Given the description of an element on the screen output the (x, y) to click on. 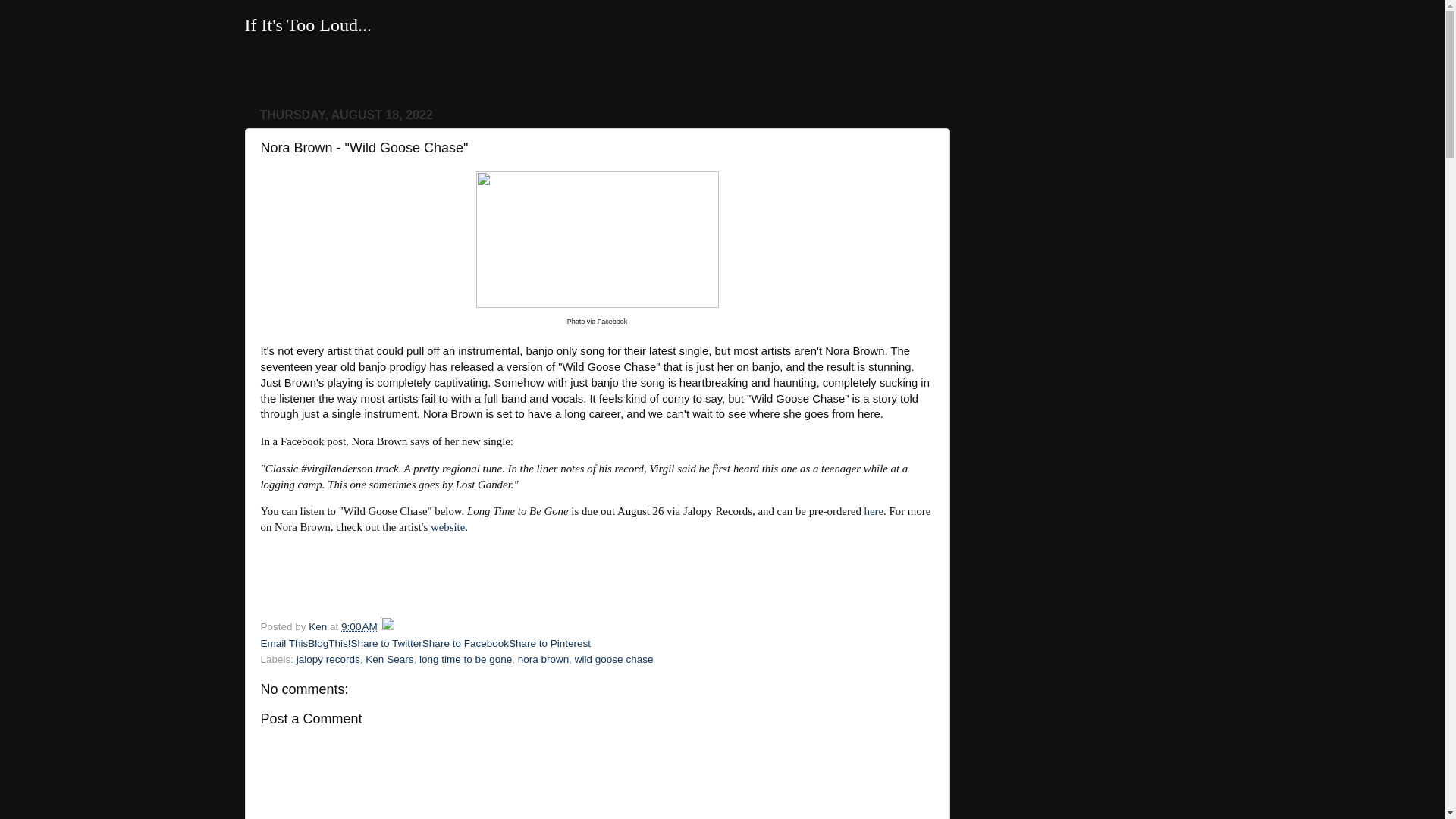
BlogThis! (328, 643)
BlogThis! (328, 643)
Share to Facebook (465, 643)
Share to Pinterest (549, 643)
Email This (284, 643)
If It's Too Loud... (307, 25)
Share to Facebook (465, 643)
Share to Twitter (386, 643)
jalopy records (328, 659)
Edit Post (387, 626)
author profile (319, 626)
Ken Sears (389, 659)
nora brown (543, 659)
wild goose chase (614, 659)
